Given the description of an element on the screen output the (x, y) to click on. 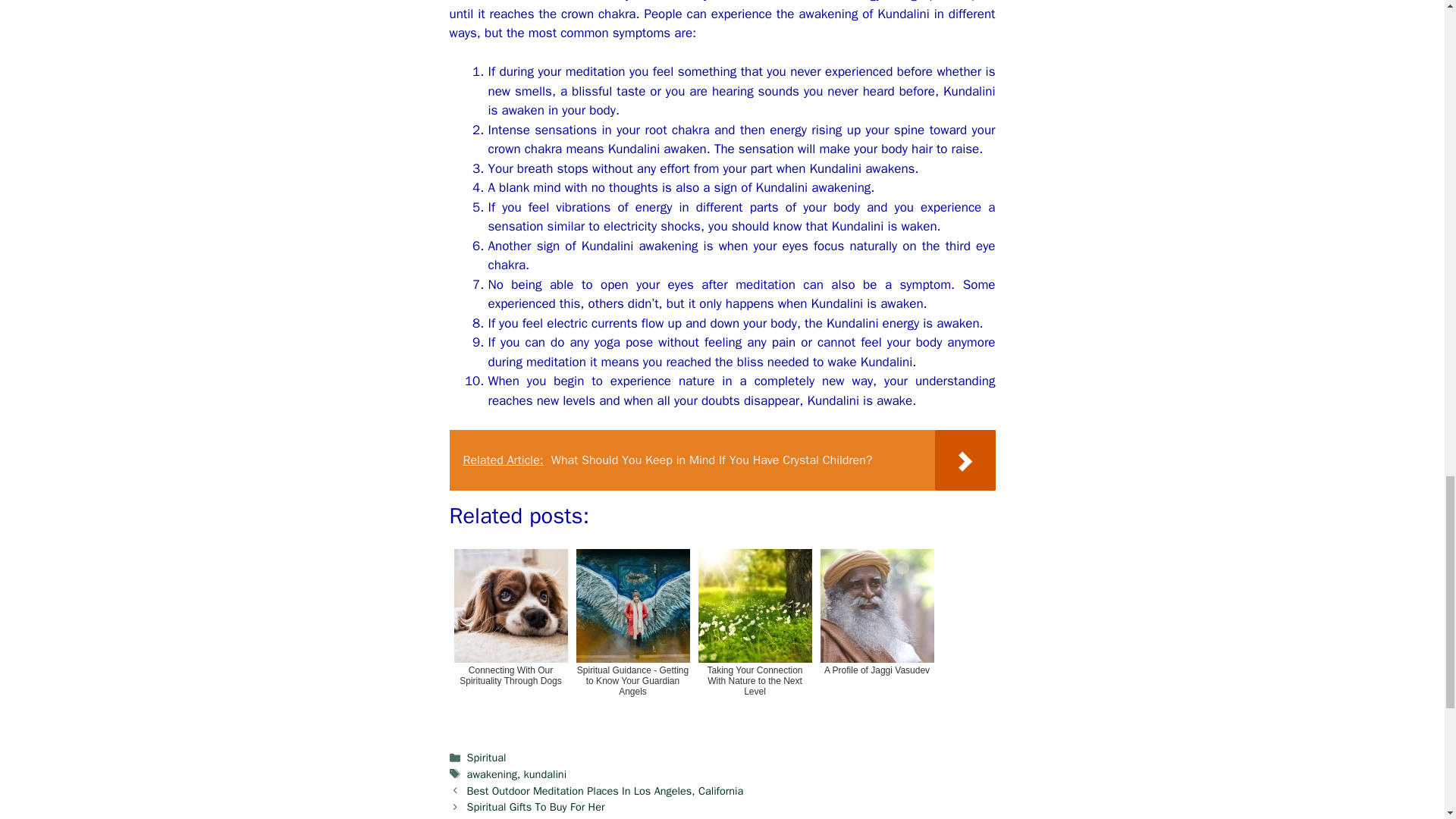
Best Outdoor Meditation Places In Los Angeles, California (605, 790)
Spiritual (486, 757)
awakening (491, 774)
kundalini (545, 774)
Spiritual Gifts To Buy For Her (536, 807)
